Given the description of an element on the screen output the (x, y) to click on. 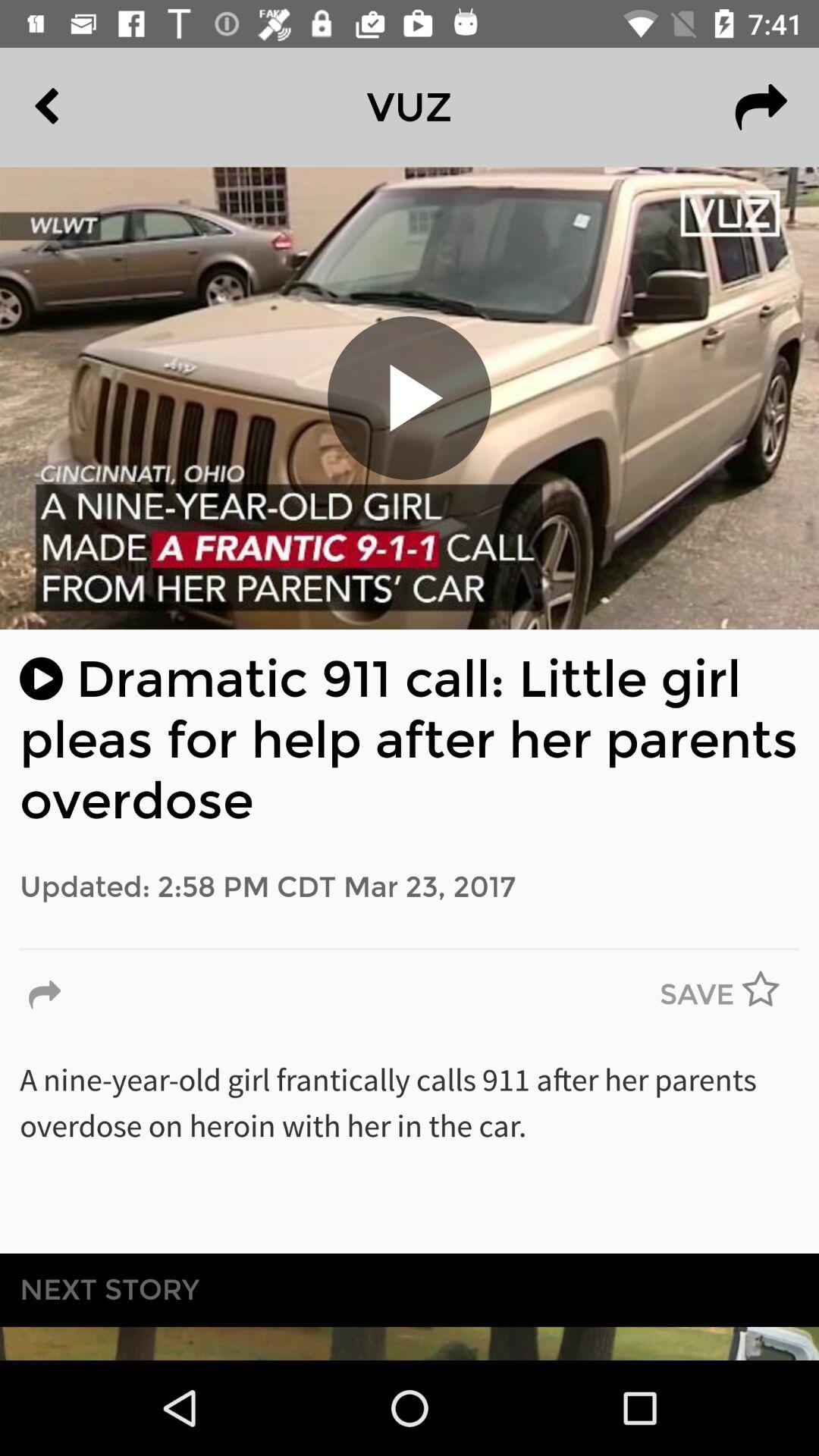
choose the icon above a nine year icon (696, 995)
